Given the description of an element on the screen output the (x, y) to click on. 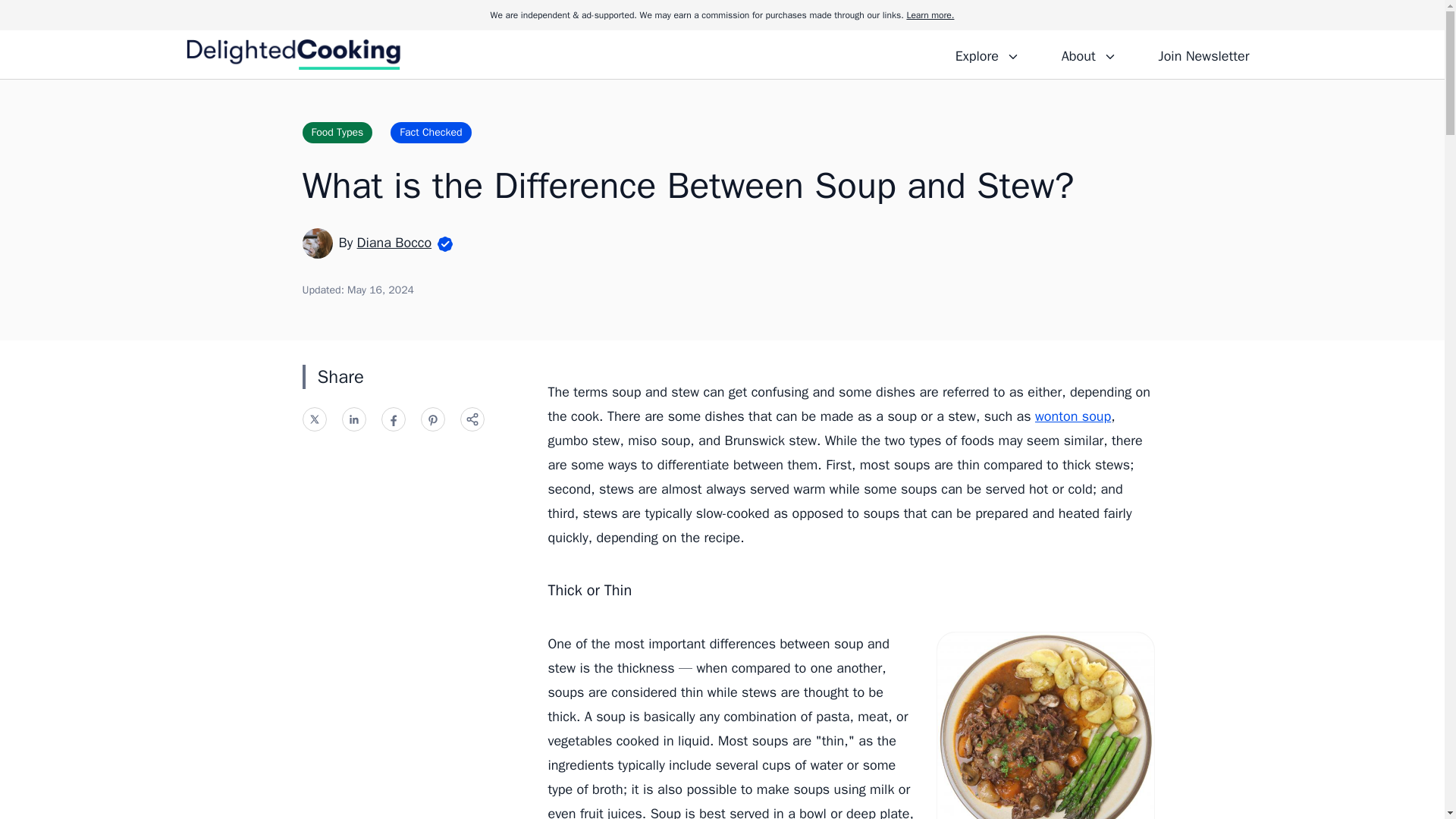
Explore (986, 54)
wonton soup (1072, 416)
Join Newsletter (1202, 54)
Food Types (336, 132)
About (1088, 54)
Fact Checked (430, 132)
Learn more. (929, 15)
Diana Bocco (394, 242)
